Given the description of an element on the screen output the (x, y) to click on. 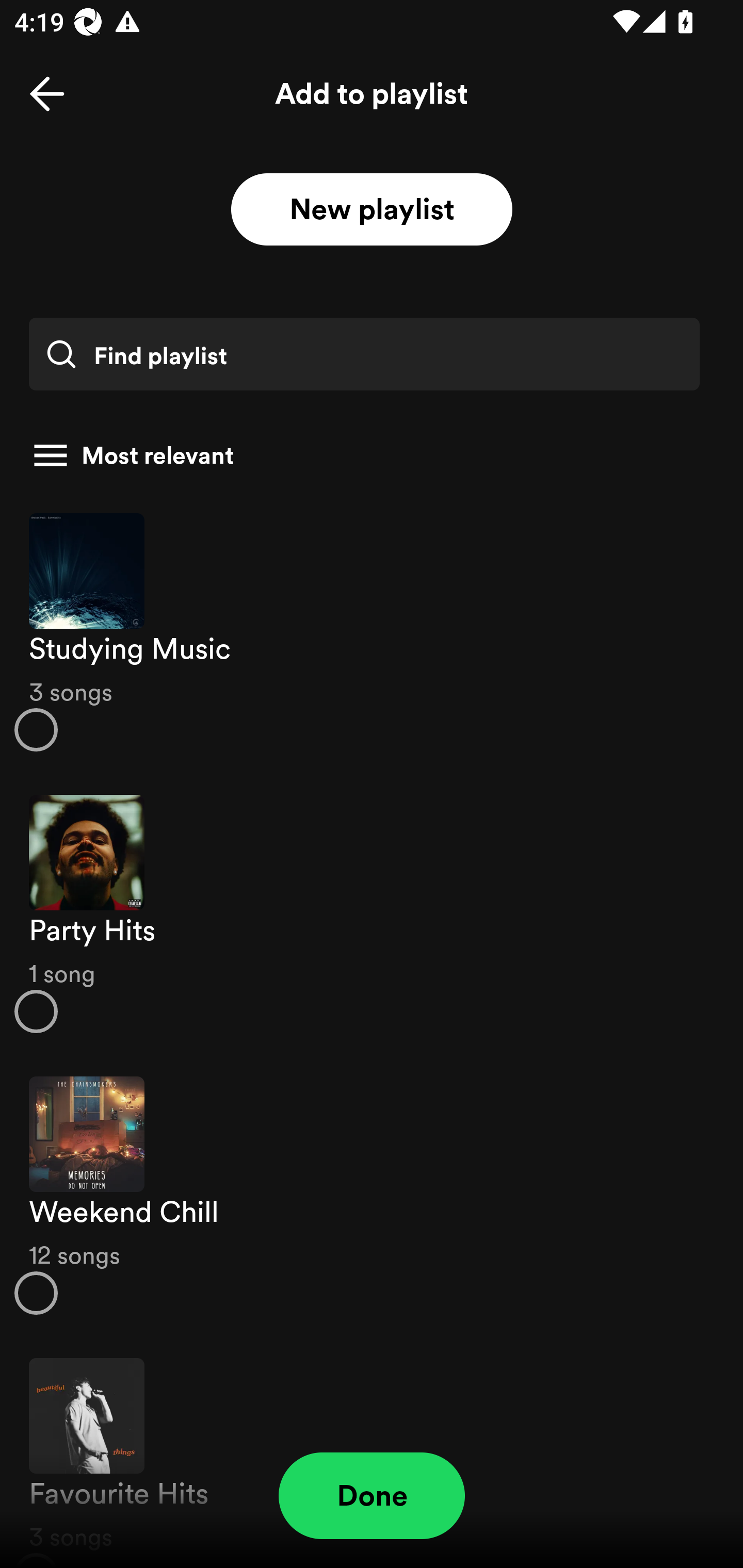
Back (46, 93)
New playlist (371, 210)
Find playlist (363, 354)
Most relevant (363, 455)
Studying Music 3 songs (371, 631)
Party Hits 1 song (371, 914)
Weekend Chill 12 songs (371, 1195)
Favourite Hits 3 songs (371, 1451)
Done (371, 1495)
